Given the description of an element on the screen output the (x, y) to click on. 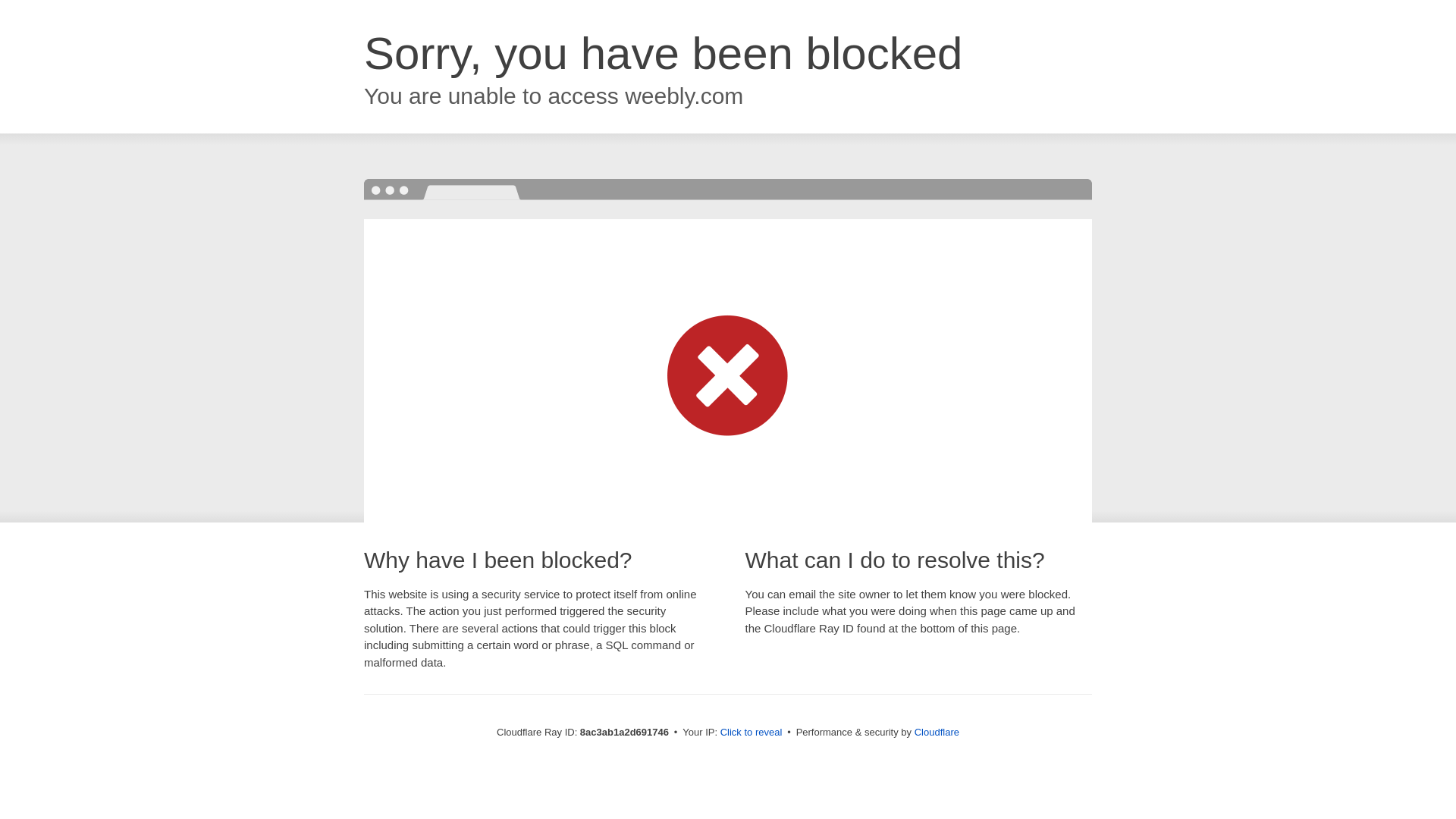
Cloudflare (936, 731)
Click to reveal (751, 732)
